Given the description of an element on the screen output the (x, y) to click on. 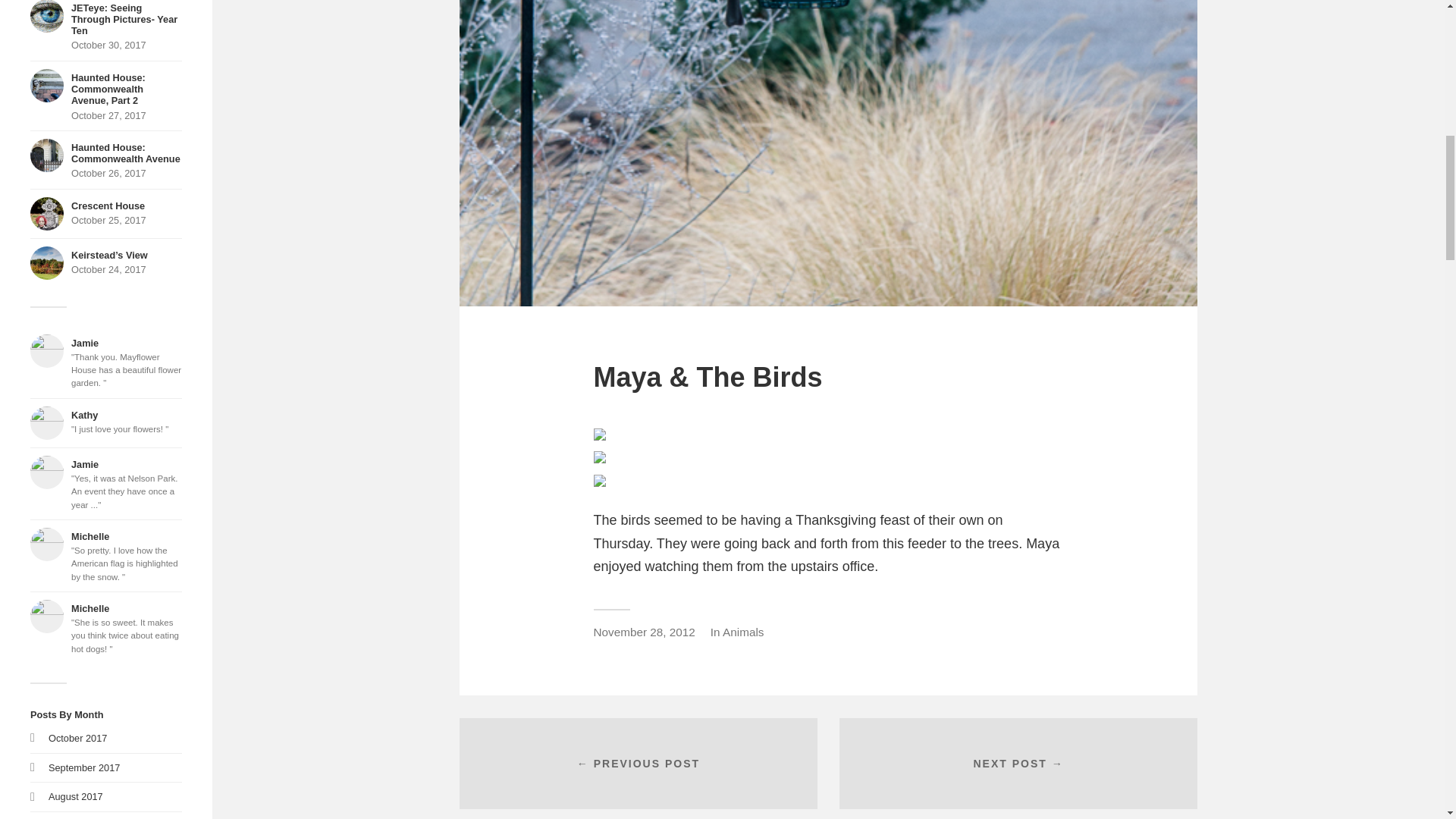
September 2017 (106, 95)
October 2017 (106, 159)
August 2017 (106, 26)
